Given the description of an element on the screen output the (x, y) to click on. 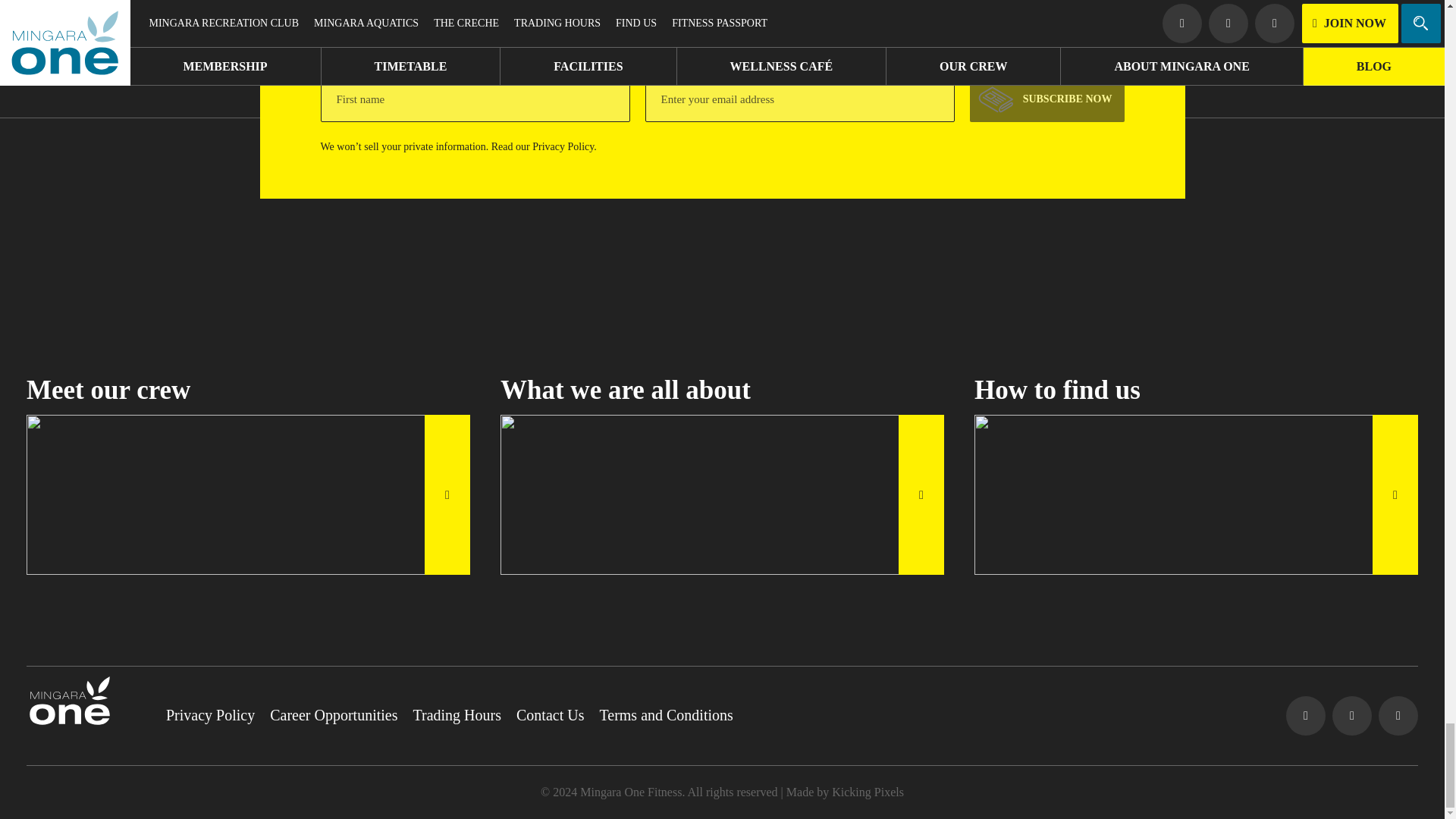
SUBSCRIBE NOW (1046, 99)
